Given the description of an element on the screen output the (x, y) to click on. 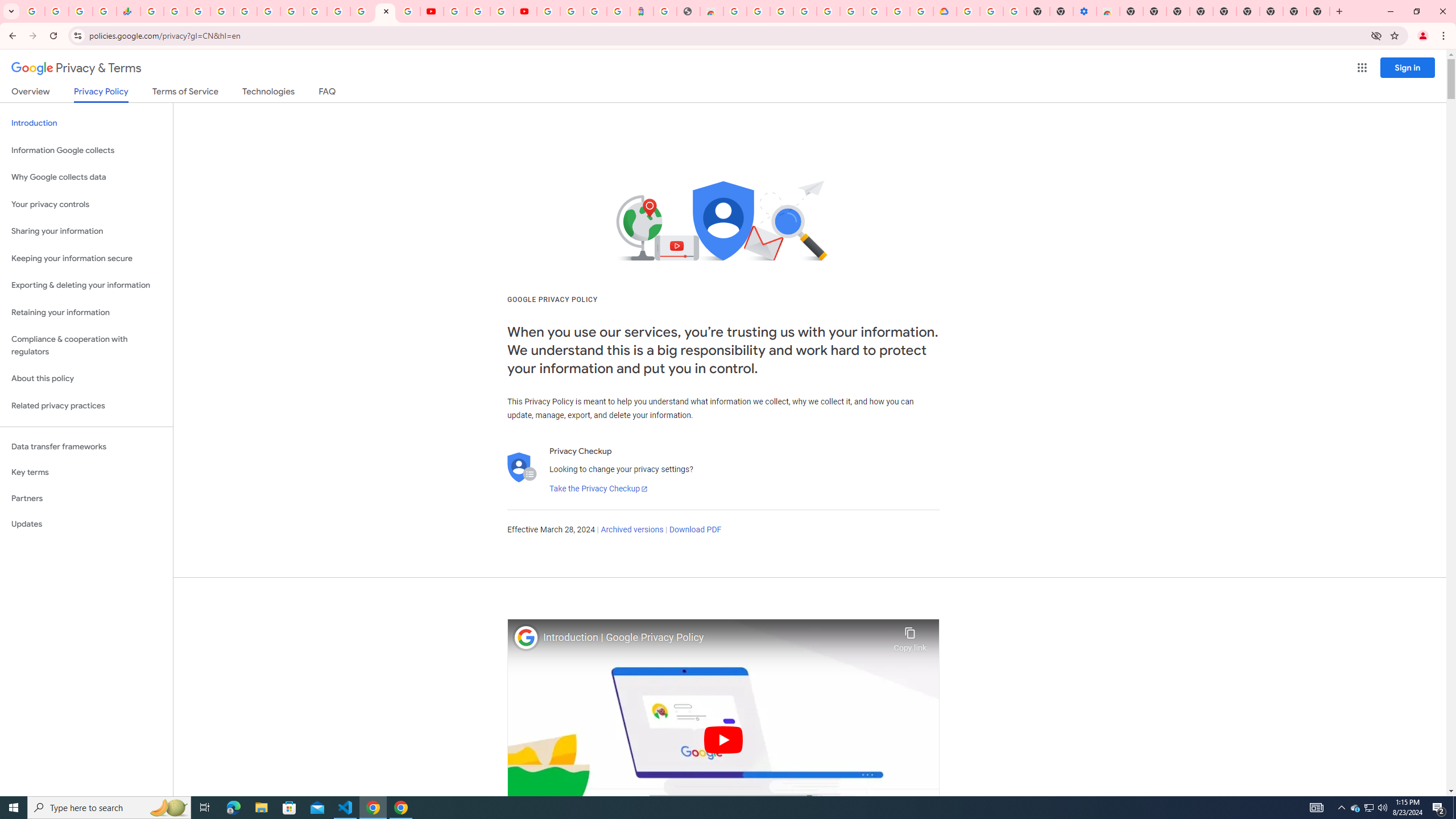
YouTube (431, 11)
